Given the description of an element on the screen output the (x, y) to click on. 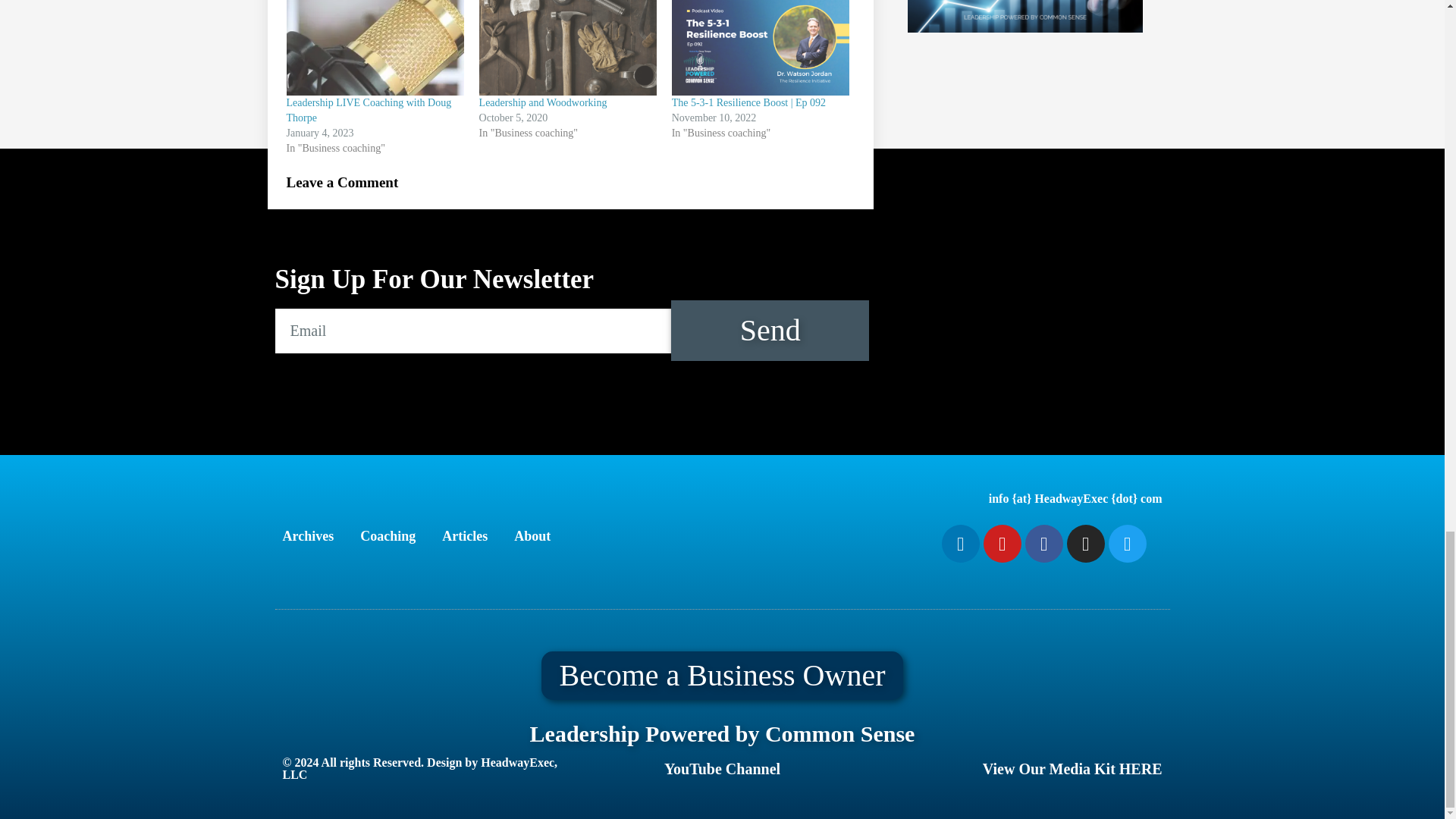
Leadership LIVE Coaching with Doug Thorpe (368, 110)
Leadership and Woodworking (543, 102)
